Given the description of an element on the screen output the (x, y) to click on. 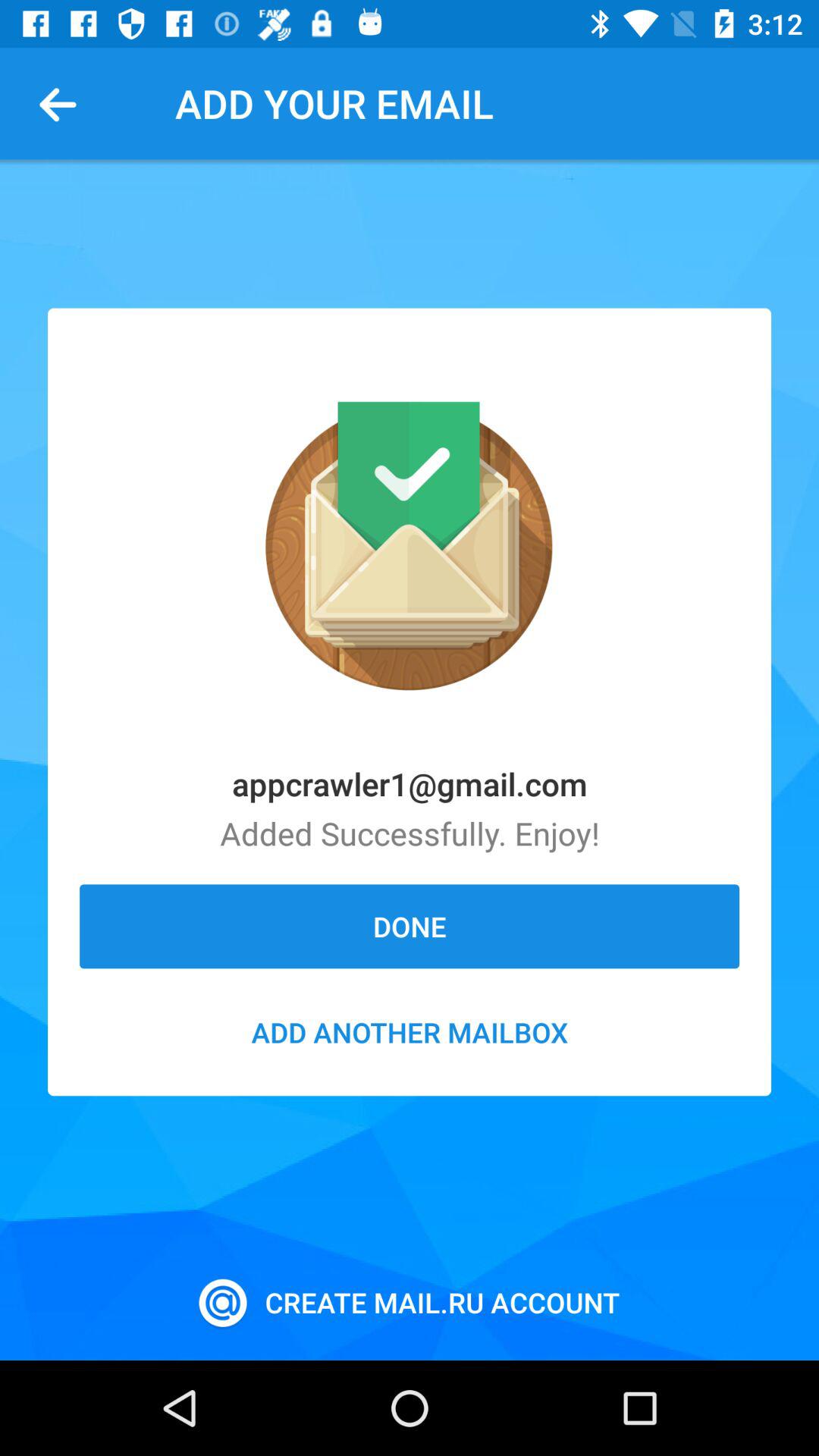
turn off the done item (409, 926)
